Given the description of an element on the screen output the (x, y) to click on. 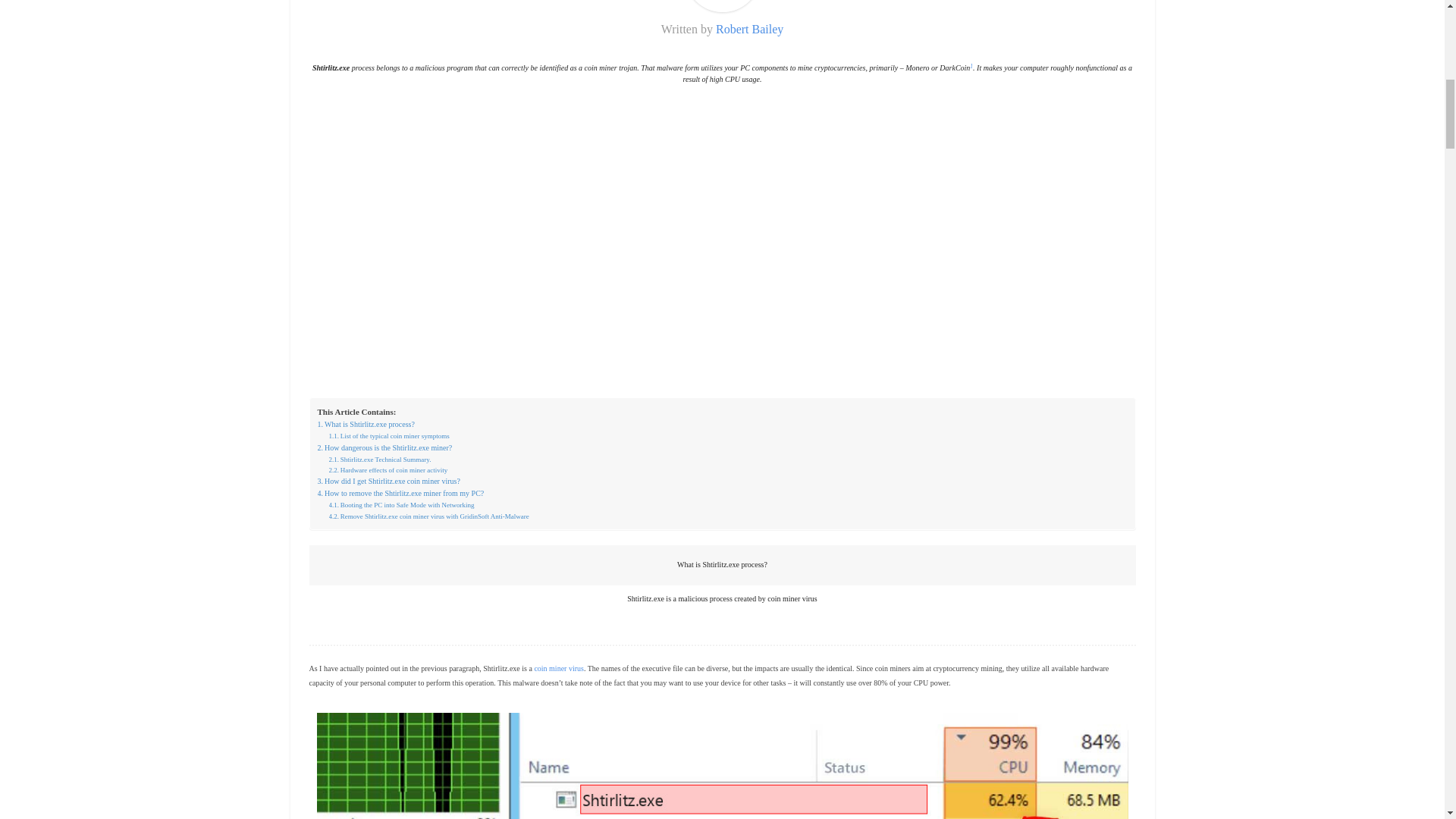
Hardware effects of coin miner activity (388, 470)
What is Shtirlitz.exe process? (365, 424)
Shtirlitz.exe Technical Summary. (379, 459)
Booting the PC into Safe Mode with Networking (401, 504)
Booting the PC into Safe Mode with Networking (401, 504)
List of the typical coin miner symptoms (389, 435)
How dangerous is the Shtirlitz.exe miner? (384, 448)
Hardware effects of coin miner activity (388, 470)
What is Shtirlitz.exe process? (365, 424)
How dangerous is the Shtirlitz.exe miner? (384, 448)
